Given the description of an element on the screen output the (x, y) to click on. 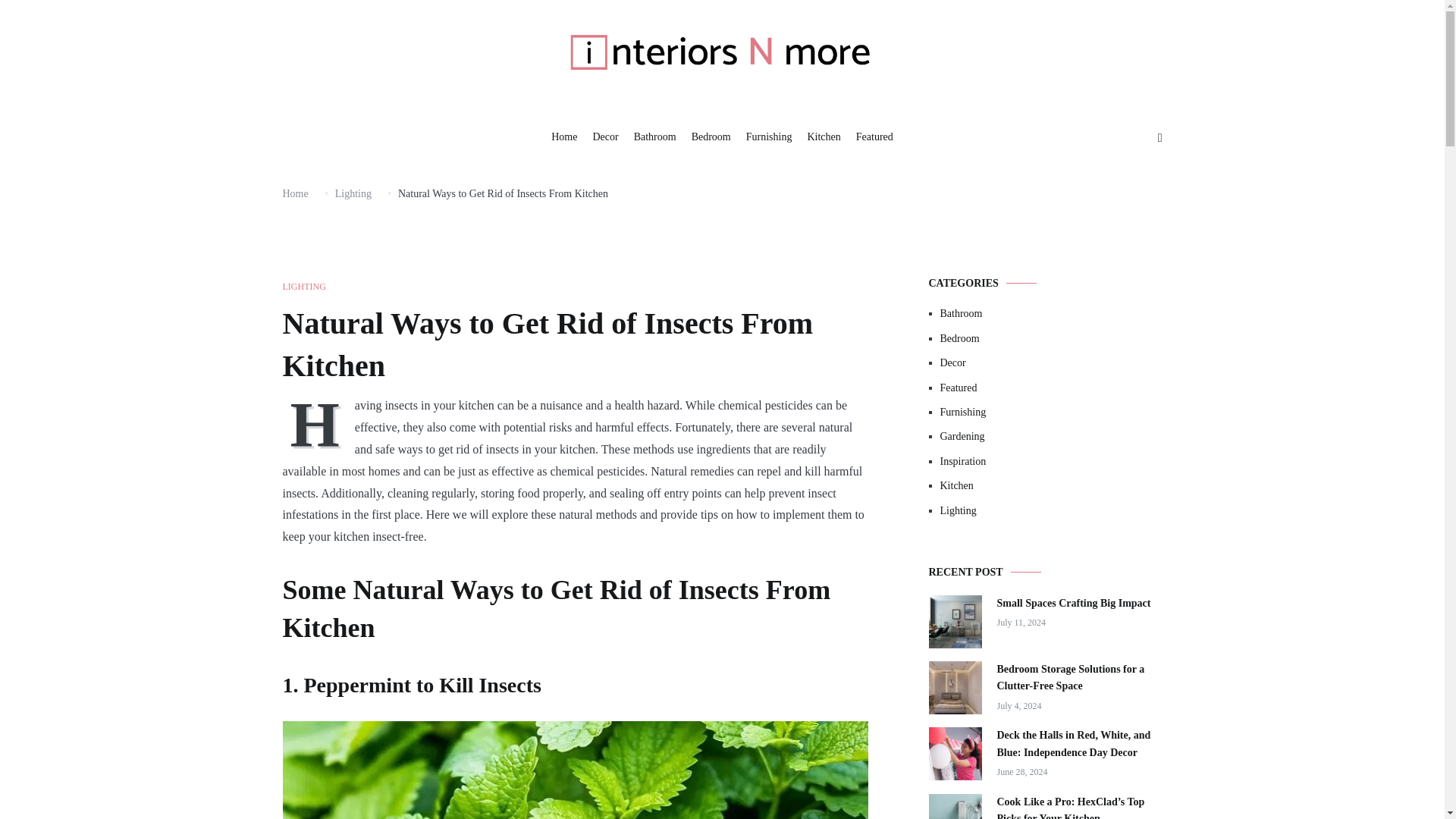
Interiors n More (514, 118)
Decor (1050, 362)
Kitchen (823, 137)
Bathroom (1050, 313)
Gardening (1050, 436)
H (317, 423)
Furnishing (768, 137)
LIGHTING (303, 287)
Furnishing (1050, 412)
Bedroom Storage Solutions for a Clutter-Free Space (1078, 677)
Home (294, 193)
Small Spaces Crafting Big Impact (1072, 602)
Bedroom (1050, 338)
Bathroom (655, 137)
Featured (874, 137)
